Given the description of an element on the screen output the (x, y) to click on. 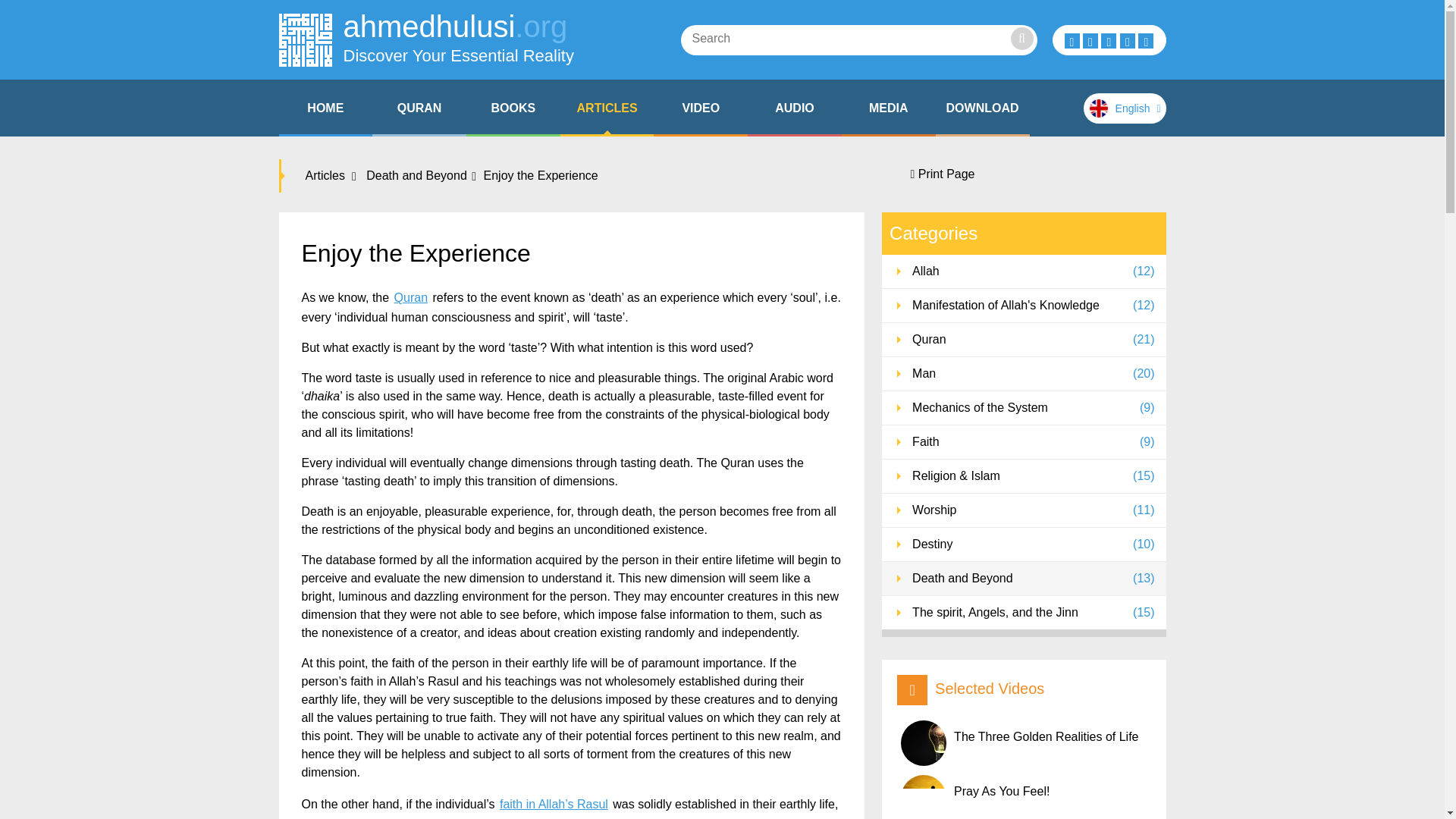
VIDEO (700, 107)
Download (982, 107)
The Three Golden Realities of Life (1025, 742)
Media (888, 107)
AUDIO (794, 107)
MEDIA (426, 39)
Audio (888, 107)
Quran (794, 107)
Books (418, 107)
DOWNLOAD (512, 107)
QURAN (982, 107)
HOME (418, 107)
Articles (325, 107)
Articles (329, 175)
